Given the description of an element on the screen output the (x, y) to click on. 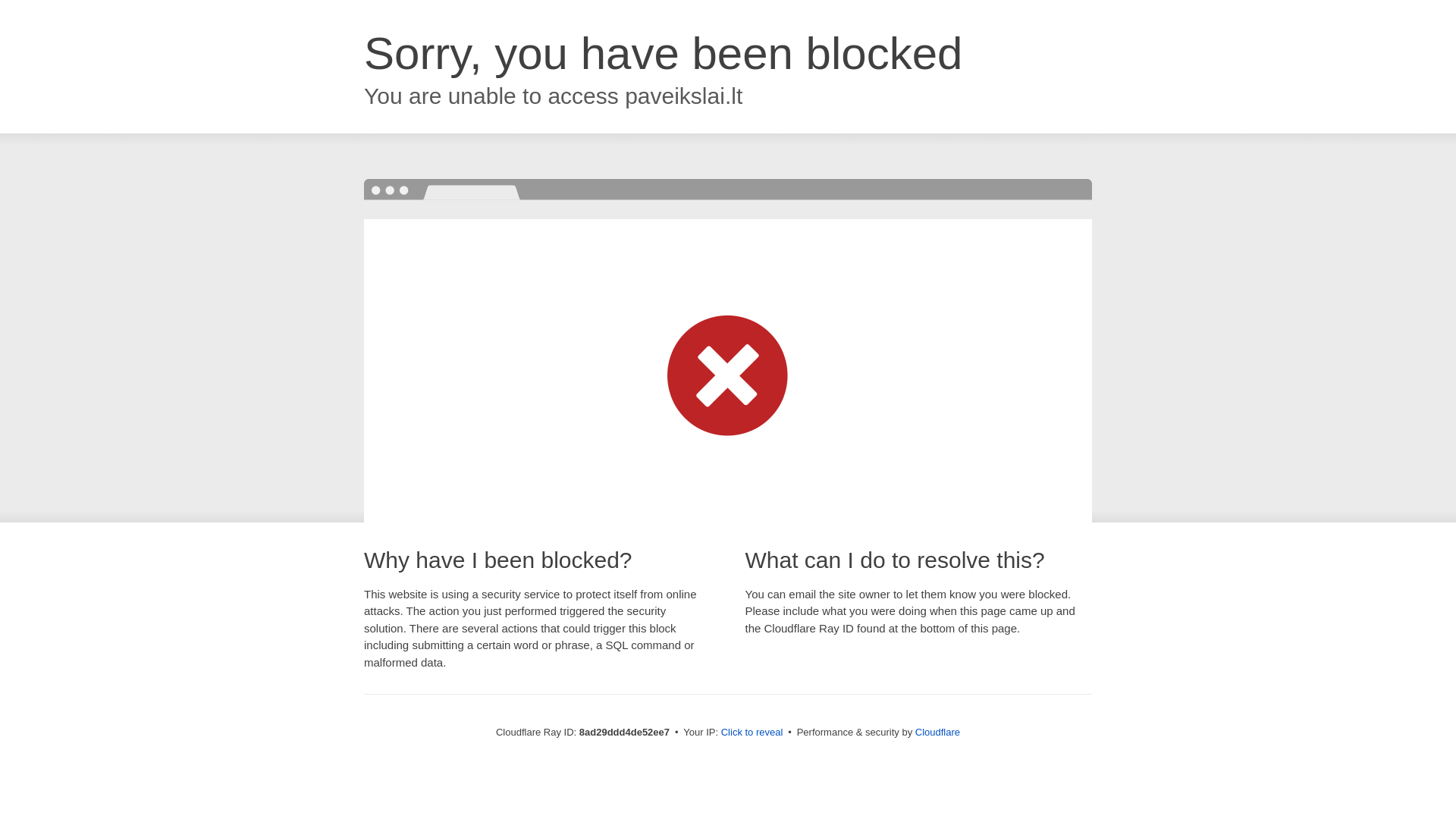
Click to reveal (751, 732)
Cloudflare (937, 731)
